Given the description of an element on the screen output the (x, y) to click on. 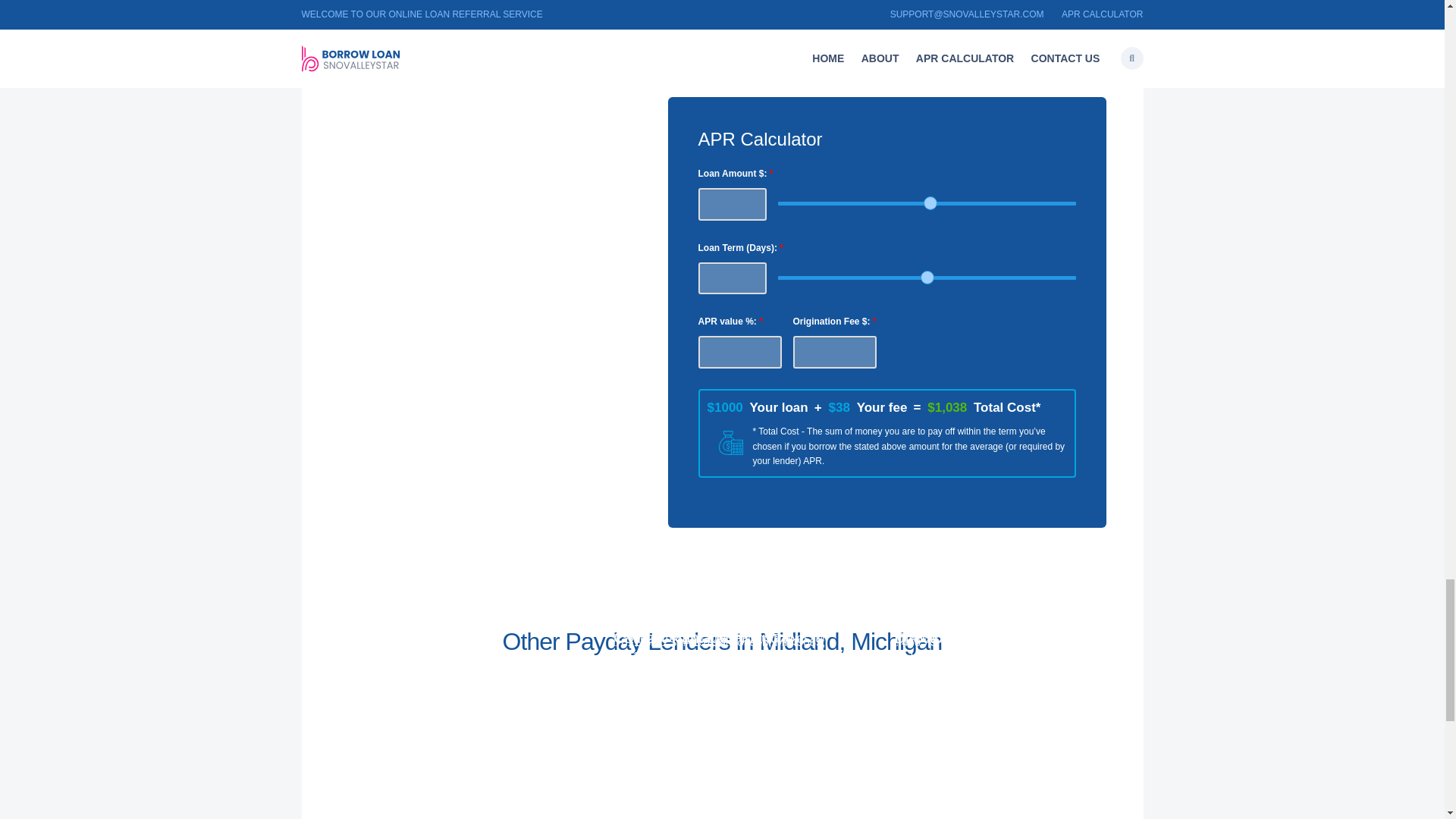
Lake Trust Credit Union (972, 614)
Catholic Vantage Financial (702, 637)
Horizon Bank (658, 614)
GreenStone Farm Credit Services (416, 581)
Quik Cash (368, 632)
Top Flite Financial - Grand Rapids (702, 599)
Mercantile Bank of Michigan (988, 591)
2600 (926, 203)
16 (926, 277)
Cashco Inc (371, 637)
